Given the description of an element on the screen output the (x, y) to click on. 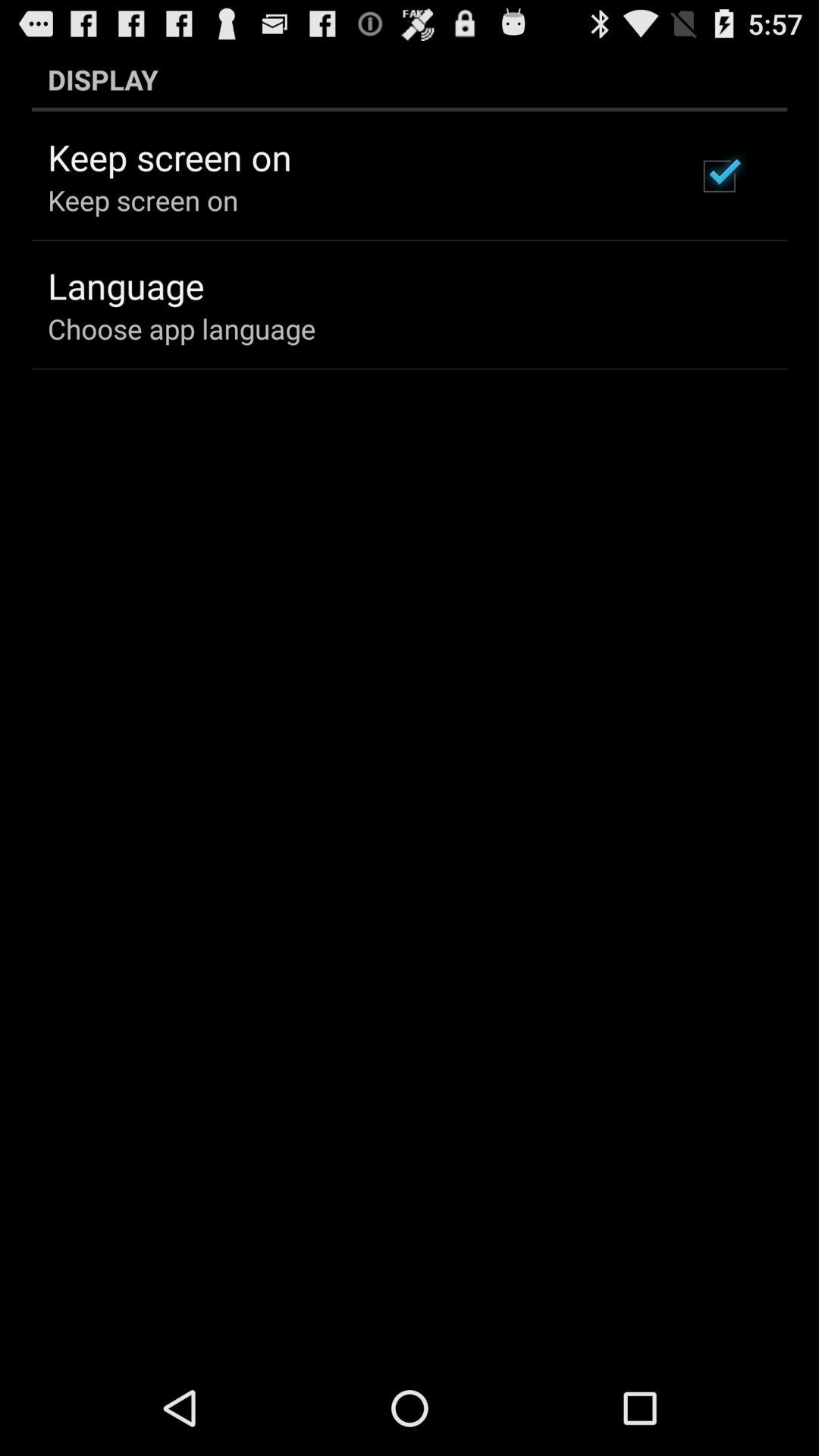
jump to display icon (409, 79)
